Given the description of an element on the screen output the (x, y) to click on. 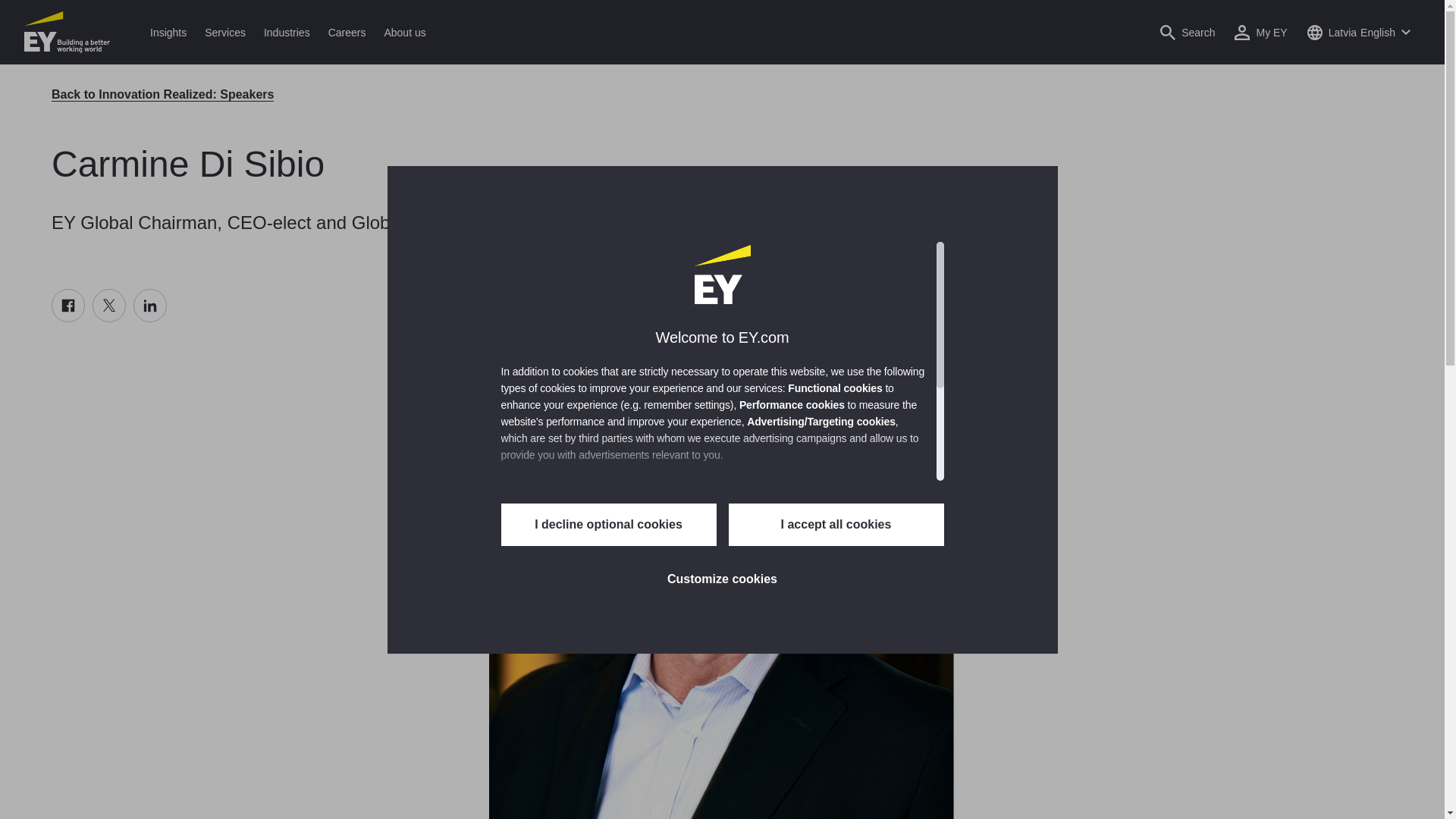
Twitter (109, 305)
Services (224, 32)
My EY (1260, 32)
Linkedin (150, 305)
Social Media Share (108, 305)
Open country language switcher (1358, 32)
EY Homepage (67, 32)
Insights (168, 32)
Open search (1187, 32)
Facebook (67, 305)
